Given the description of an element on the screen output the (x, y) to click on. 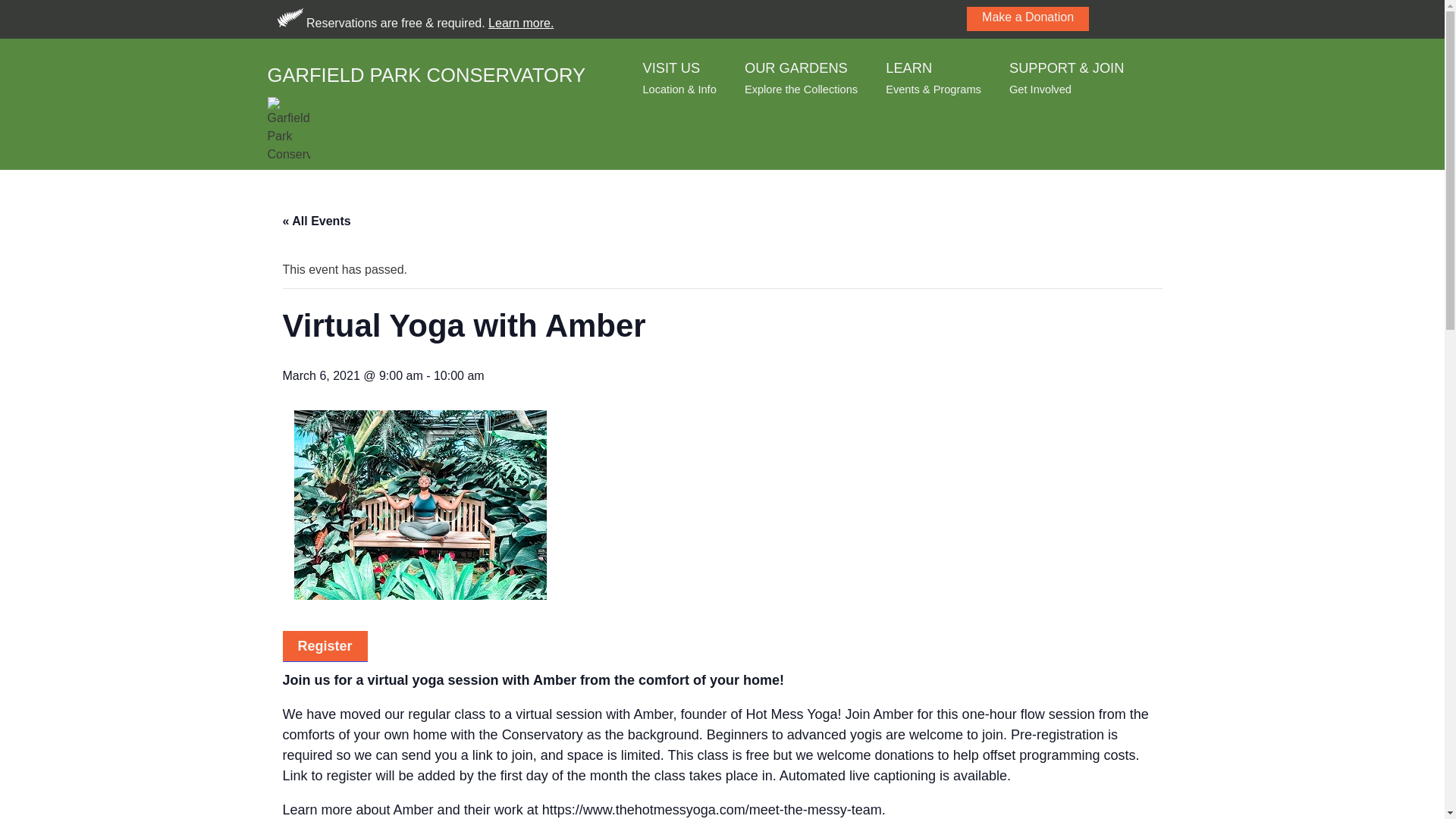
Make a Donation (1027, 18)
Search for: (1154, 18)
GARFIELD PARK CONSERVATORY (425, 69)
Search (25, 11)
Learn more. (800, 78)
Register (520, 22)
